Given the description of an element on the screen output the (x, y) to click on. 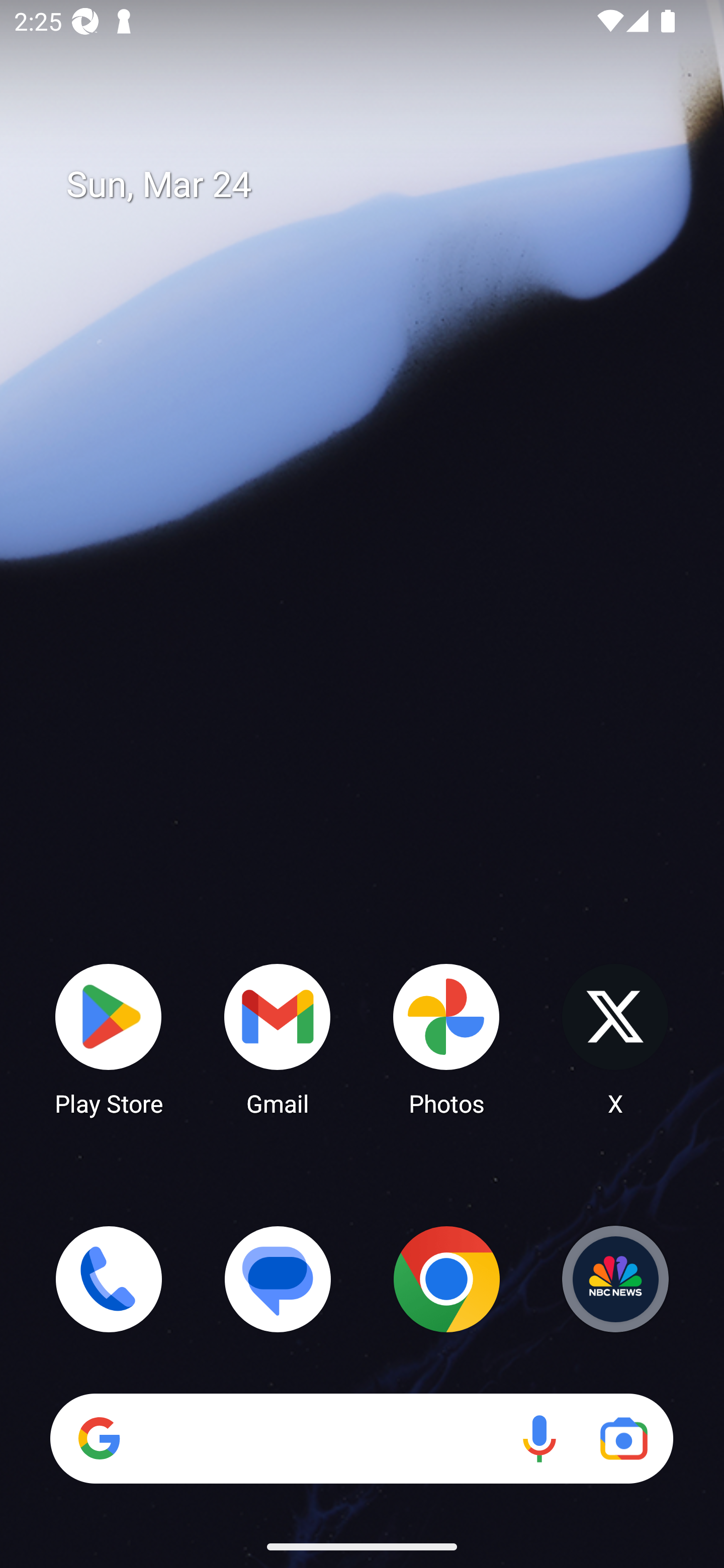
Sun, Mar 24 (375, 184)
Play Store (108, 1038)
Gmail (277, 1038)
Photos (445, 1038)
X (615, 1038)
Phone (108, 1279)
Messages (277, 1279)
Chrome (446, 1279)
NBC NEWS Predicted app: NBC NEWS (615, 1279)
Voice search (539, 1438)
Google Lens (623, 1438)
